Given the description of an element on the screen output the (x, y) to click on. 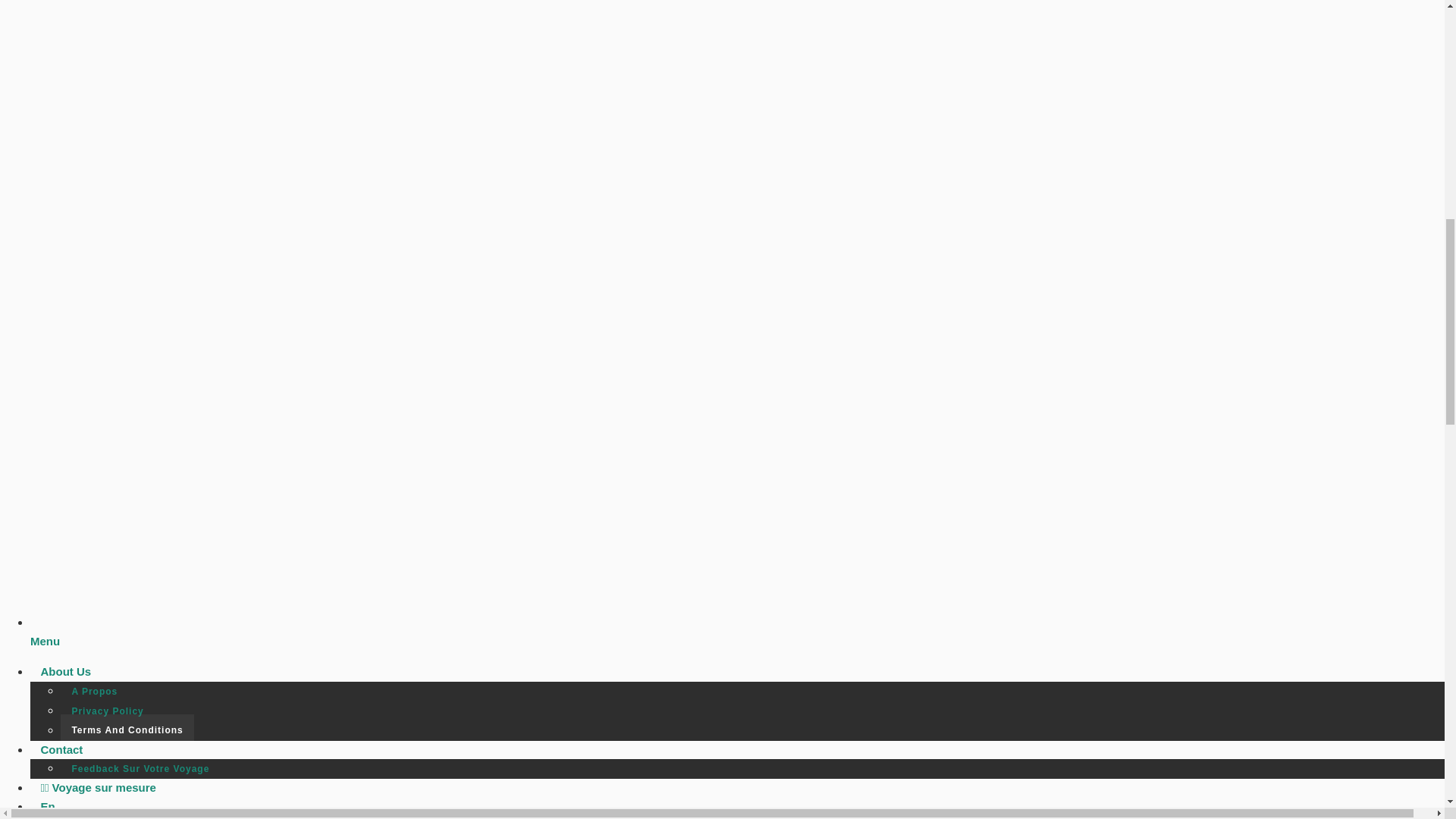
Contact (61, 749)
About Us (65, 671)
A Propos (95, 691)
Privacy Policy (107, 711)
Menu (742, 631)
Feedback Sur Votre Voyage (141, 768)
Covid (56, 813)
En (47, 803)
Terms And Conditions (127, 730)
